Given the description of an element on the screen output the (x, y) to click on. 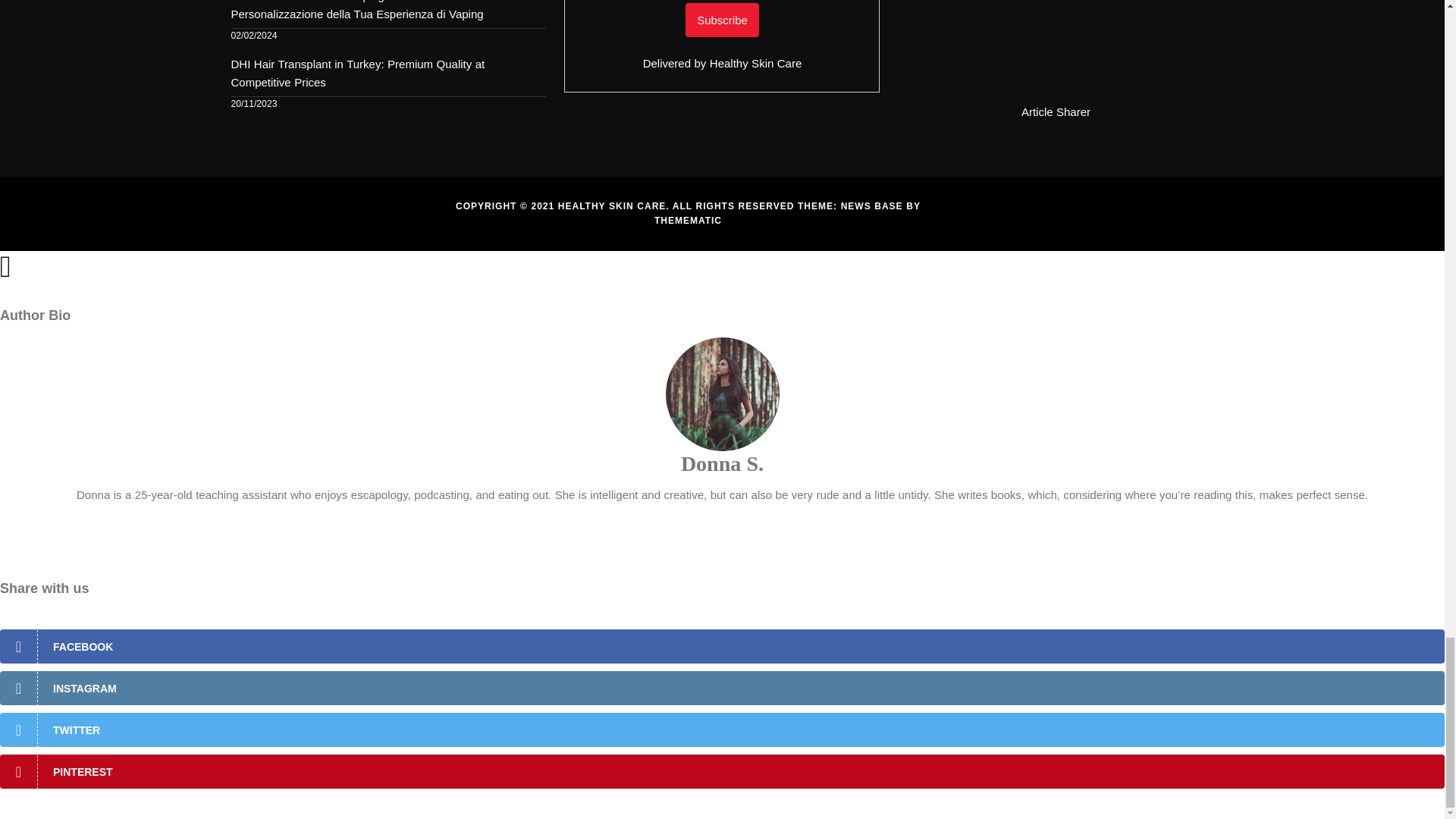
Cyber Trap (1055, 47)
Subscribe (721, 19)
